Given the description of an element on the screen output the (x, y) to click on. 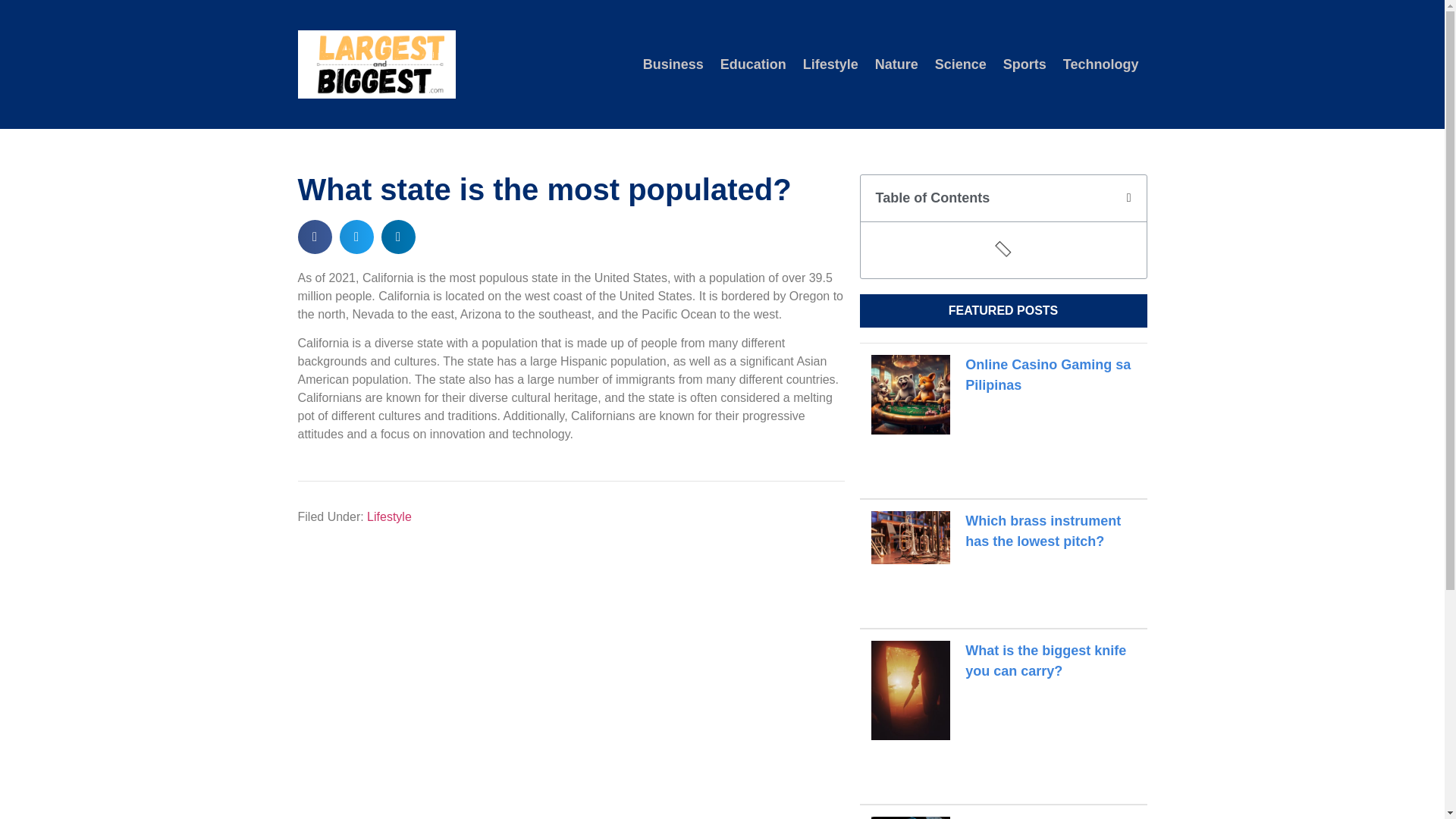
What is the biggest knife you can carry? (1045, 660)
Nature (896, 63)
Sports (1024, 63)
Technology (1100, 63)
Online Casino Gaming sa Pilipinas (1048, 375)
Education (752, 63)
Which brass instrument has the lowest pitch? (1043, 530)
Lifestyle (830, 63)
Science (960, 63)
Business (672, 63)
Lifestyle (389, 516)
